Given the description of an element on the screen output the (x, y) to click on. 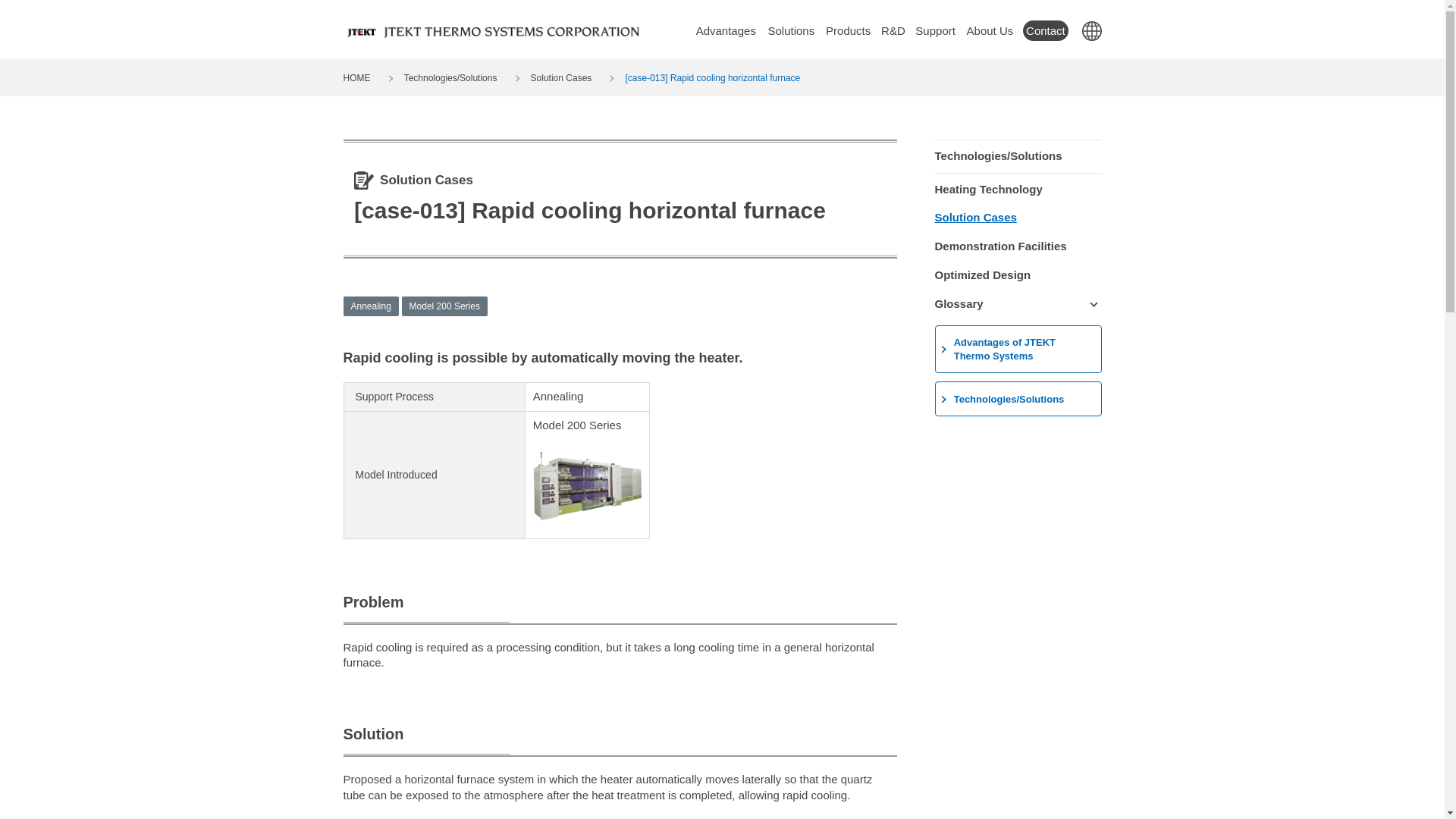
Solutions (790, 30)
Products (848, 30)
Support (935, 30)
Advantages (726, 30)
About Us (988, 30)
